Given the description of an element on the screen output the (x, y) to click on. 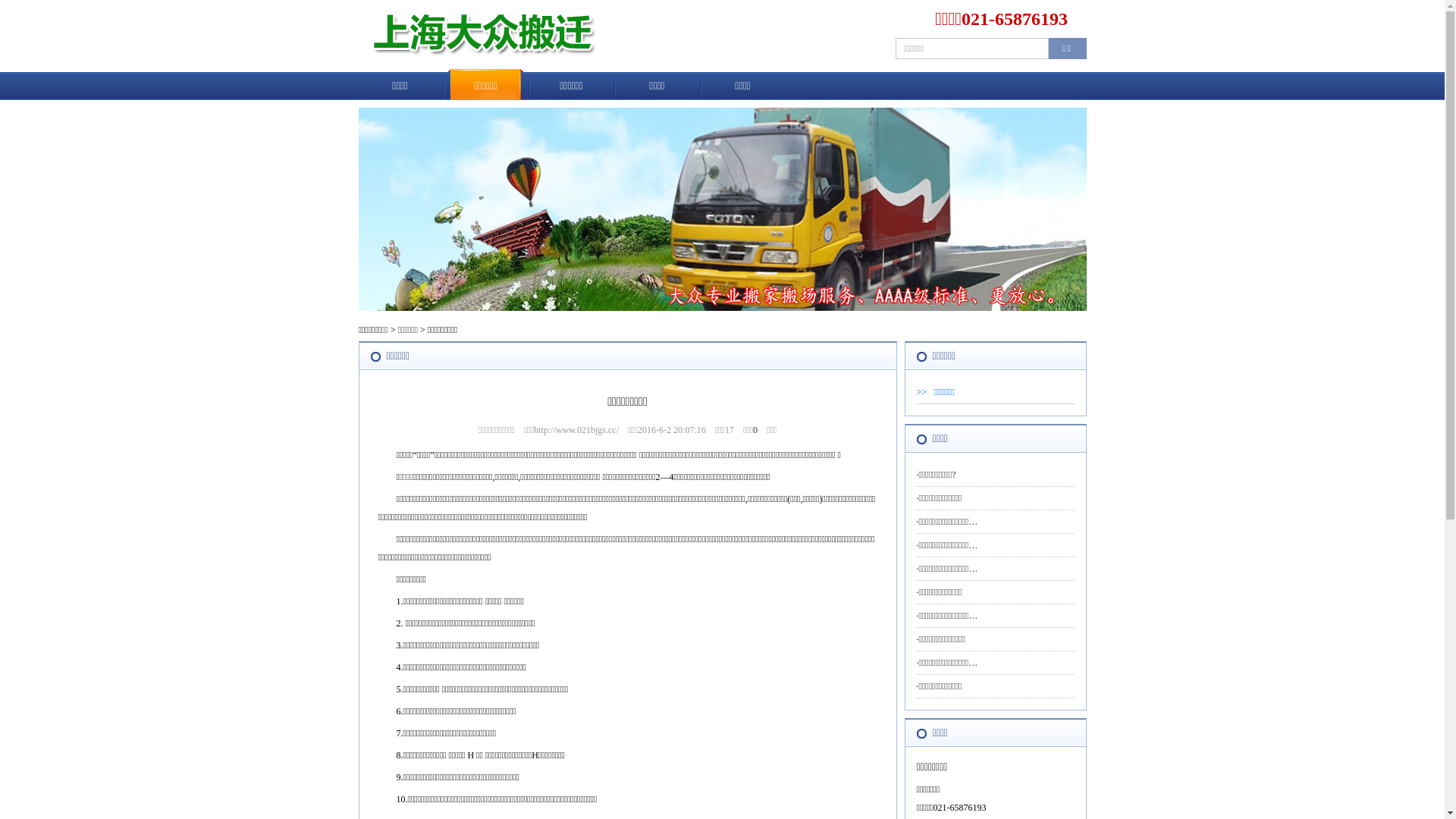
0 Element type: text (755, 429)
